Given the description of an element on the screen output the (x, y) to click on. 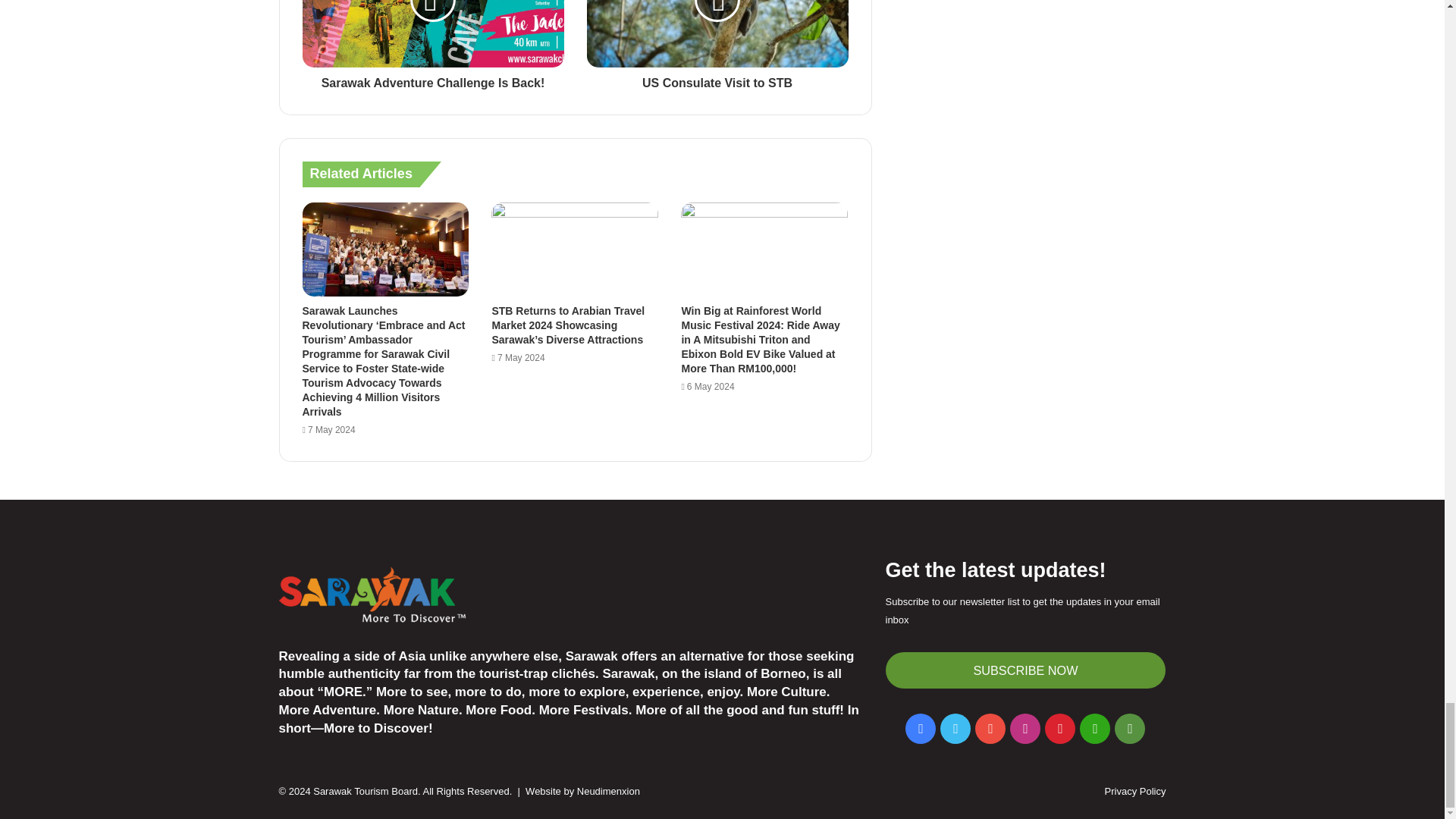
US Consulate Visit to STB (717, 79)
Sarawak Adventure Challenge Is Back! (432, 79)
